Given the description of an element on the screen output the (x, y) to click on. 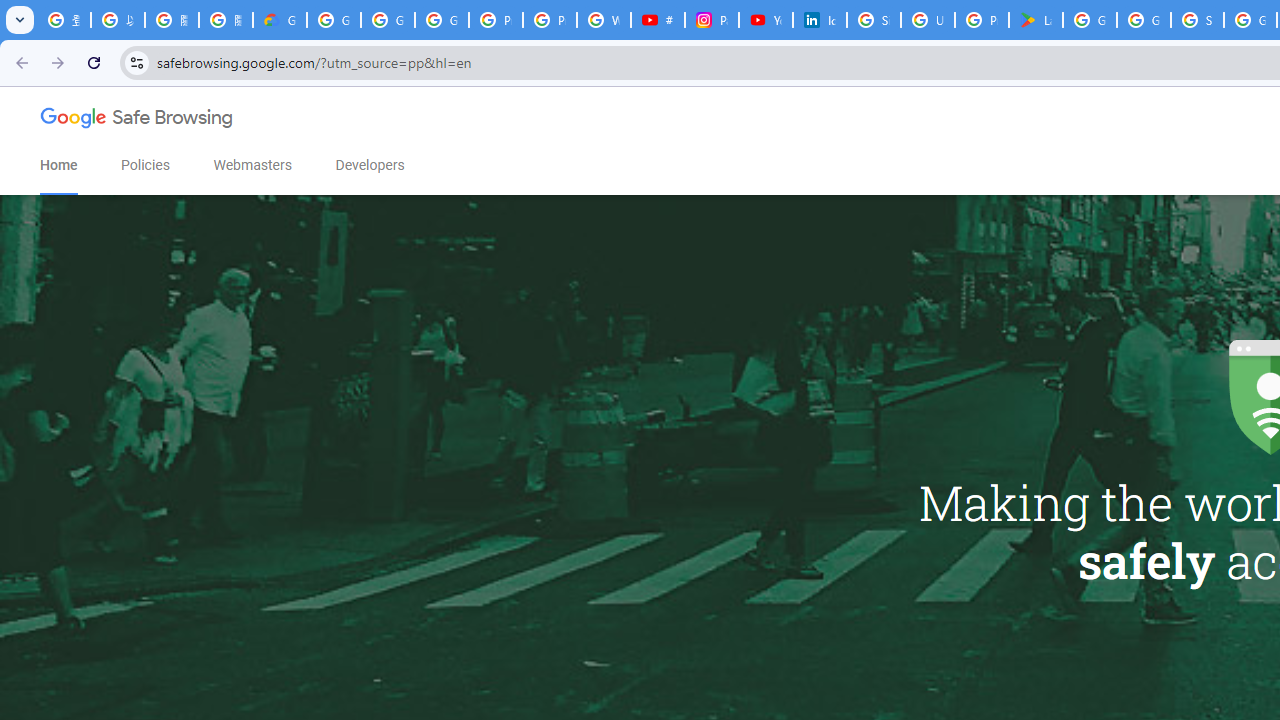
Sign in - Google Accounts (874, 20)
Privacy Help Center - Policies Help (550, 20)
